Given the description of an element on the screen output the (x, y) to click on. 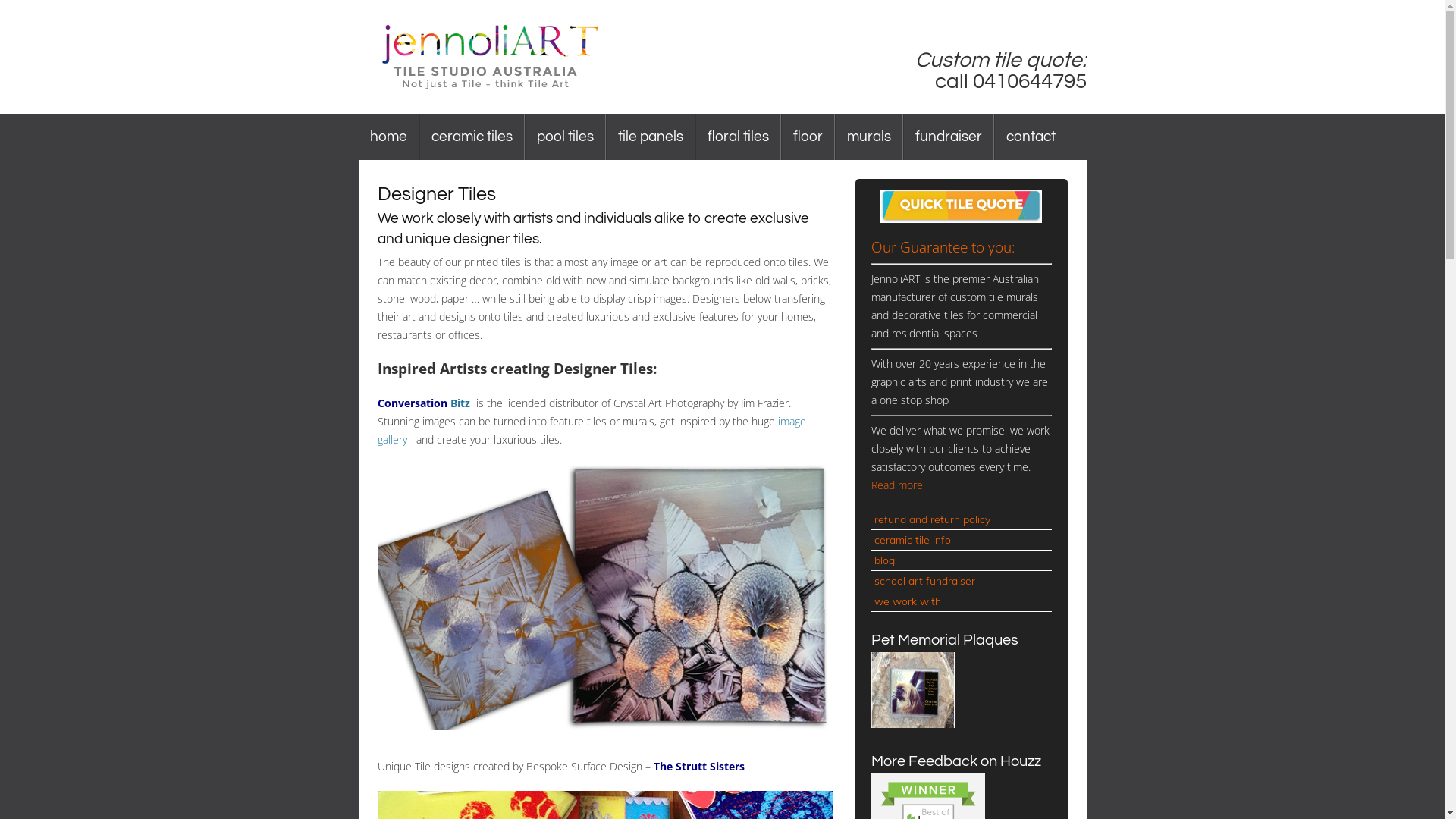
floral tiles Element type: text (738, 136)
The Strutt Sisters Element type: text (698, 766)
we work with Element type: text (960, 601)
fundraiser Element type: text (948, 136)
school art fundraiser Element type: text (960, 581)
floor Element type: text (807, 136)
Read more Element type: text (896, 484)
pool tiles Element type: text (564, 136)
murals Element type: text (868, 136)
contact Element type: text (1030, 136)
Jennoli Art Element type: text (536, 56)
refund and return policy Element type: text (960, 519)
ceramic tile info Element type: text (960, 540)
home Element type: text (387, 136)
blog Element type: text (960, 560)
Pet Memorial Plaques Element type: hover (911, 723)
Conversation Bitz Element type: text (423, 402)
image gallery  Element type: text (591, 430)
tile panels Element type: text (650, 136)
ceramic tiles Element type: text (472, 136)
